Given the description of an element on the screen output the (x, y) to click on. 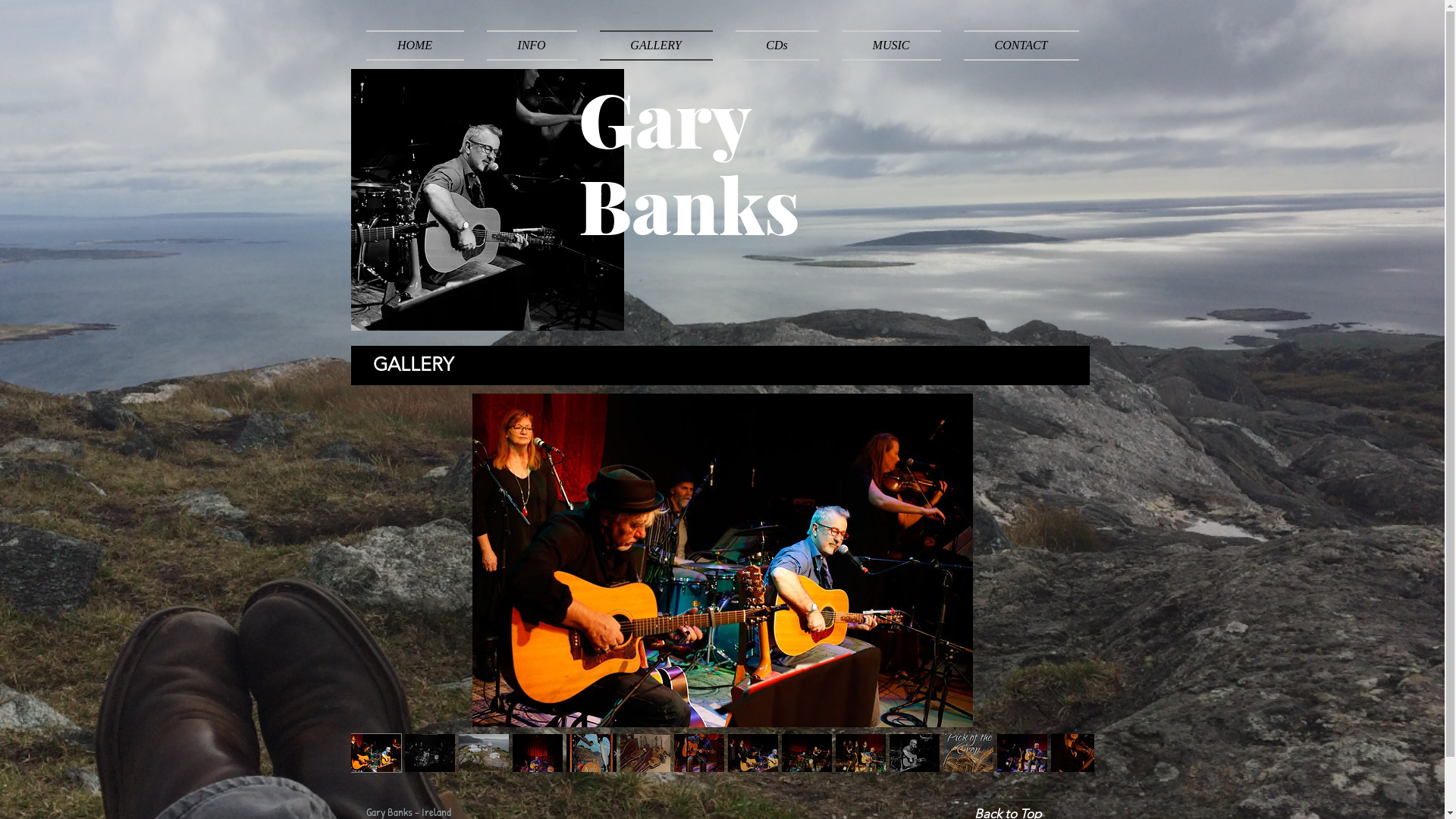
CDs Element type: text (776, 45)
HOME Element type: text (419, 45)
CONTACT Element type: text (1015, 45)
GALLERY Element type: text (656, 45)
MUSIC Element type: text (890, 45)
INFO Element type: text (530, 45)
